Given the description of an element on the screen output the (x, y) to click on. 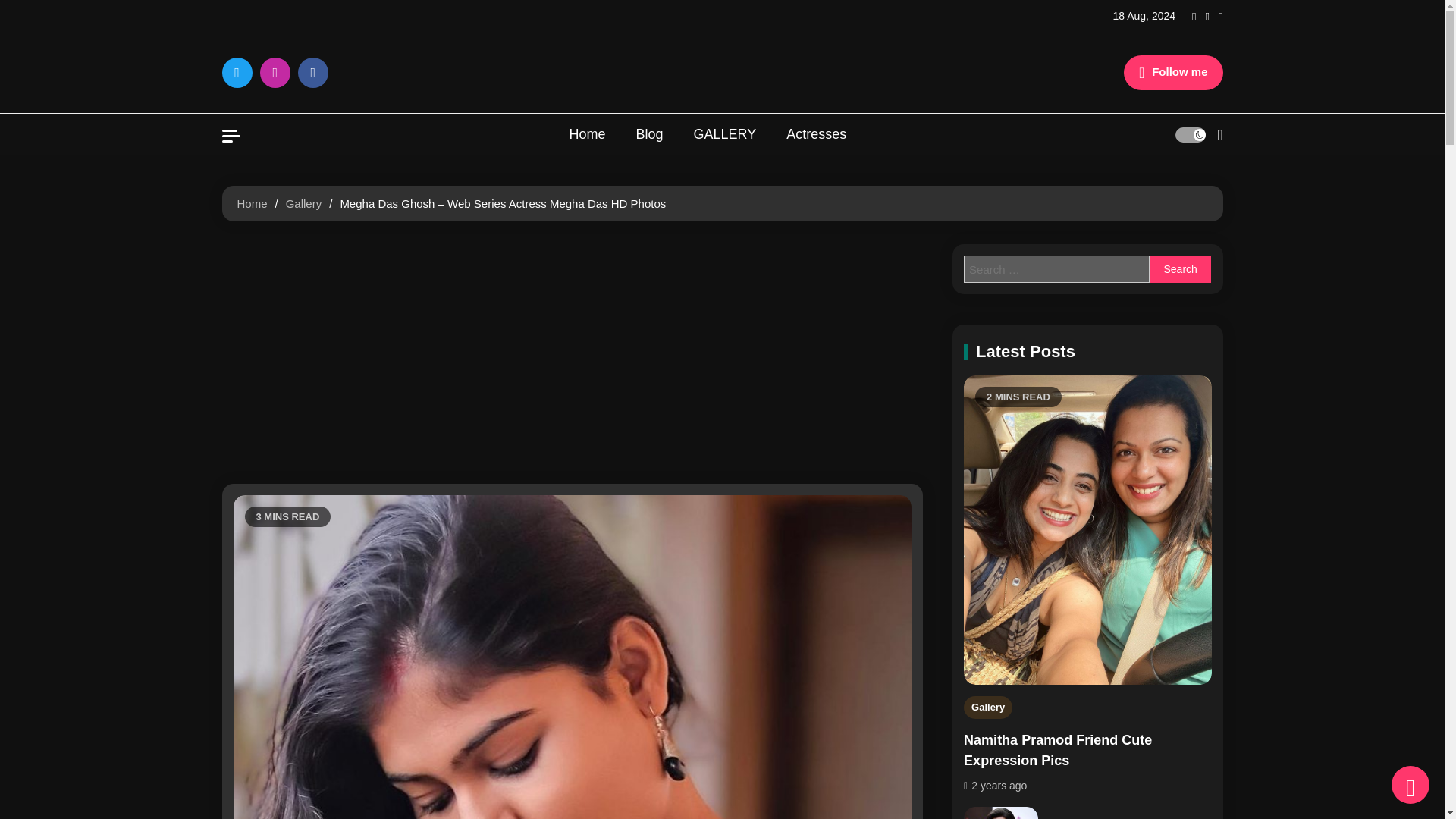
Search (1180, 268)
Follow me (1173, 72)
Home (250, 203)
Gallery (303, 203)
HD Girls Photos (558, 89)
Search (1180, 192)
site mode button (1189, 134)
Home (586, 134)
Search (1180, 268)
GALLERY (724, 134)
